Given the description of an element on the screen output the (x, y) to click on. 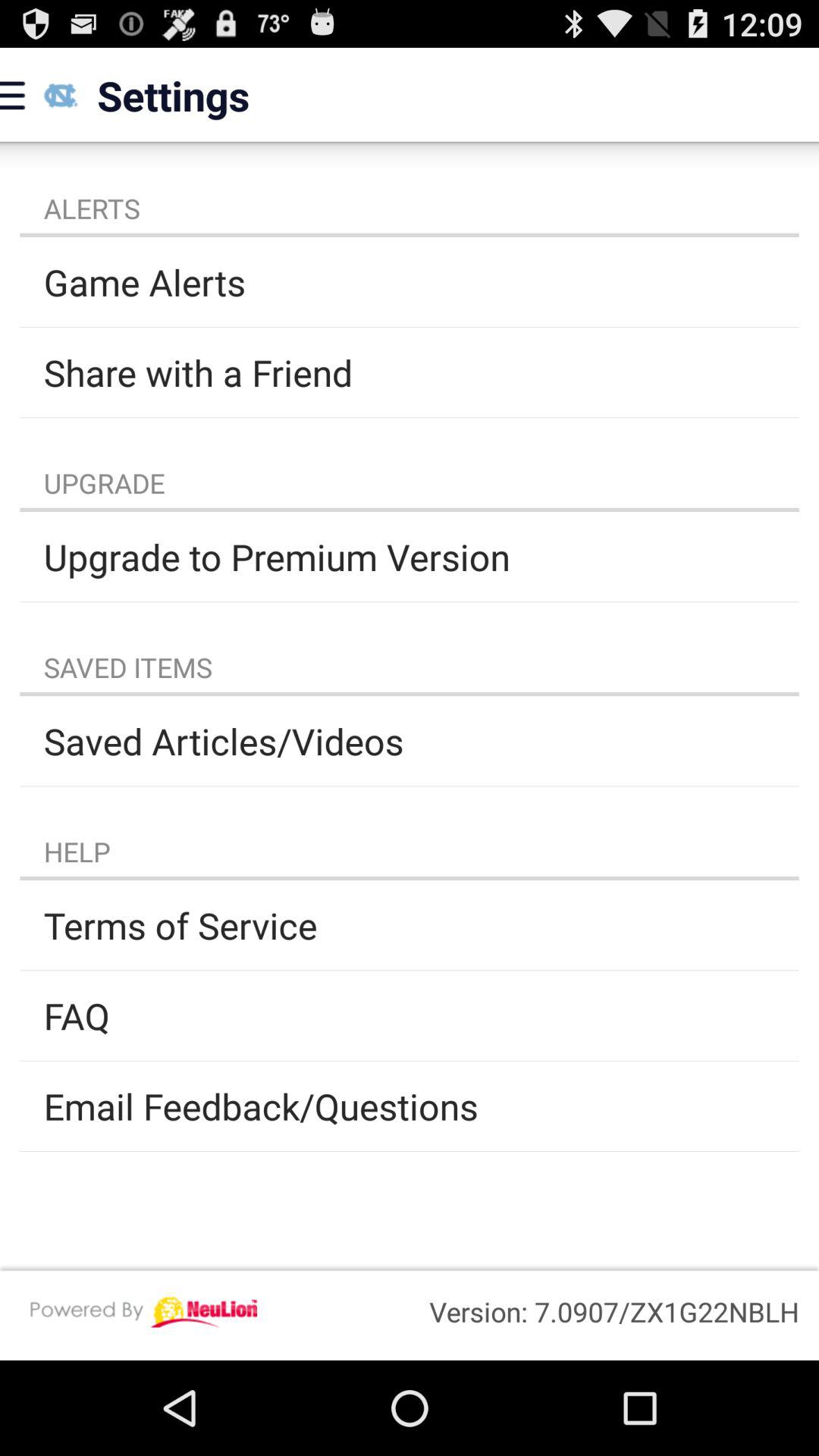
jump to share with a (409, 372)
